Given the description of an element on the screen output the (x, y) to click on. 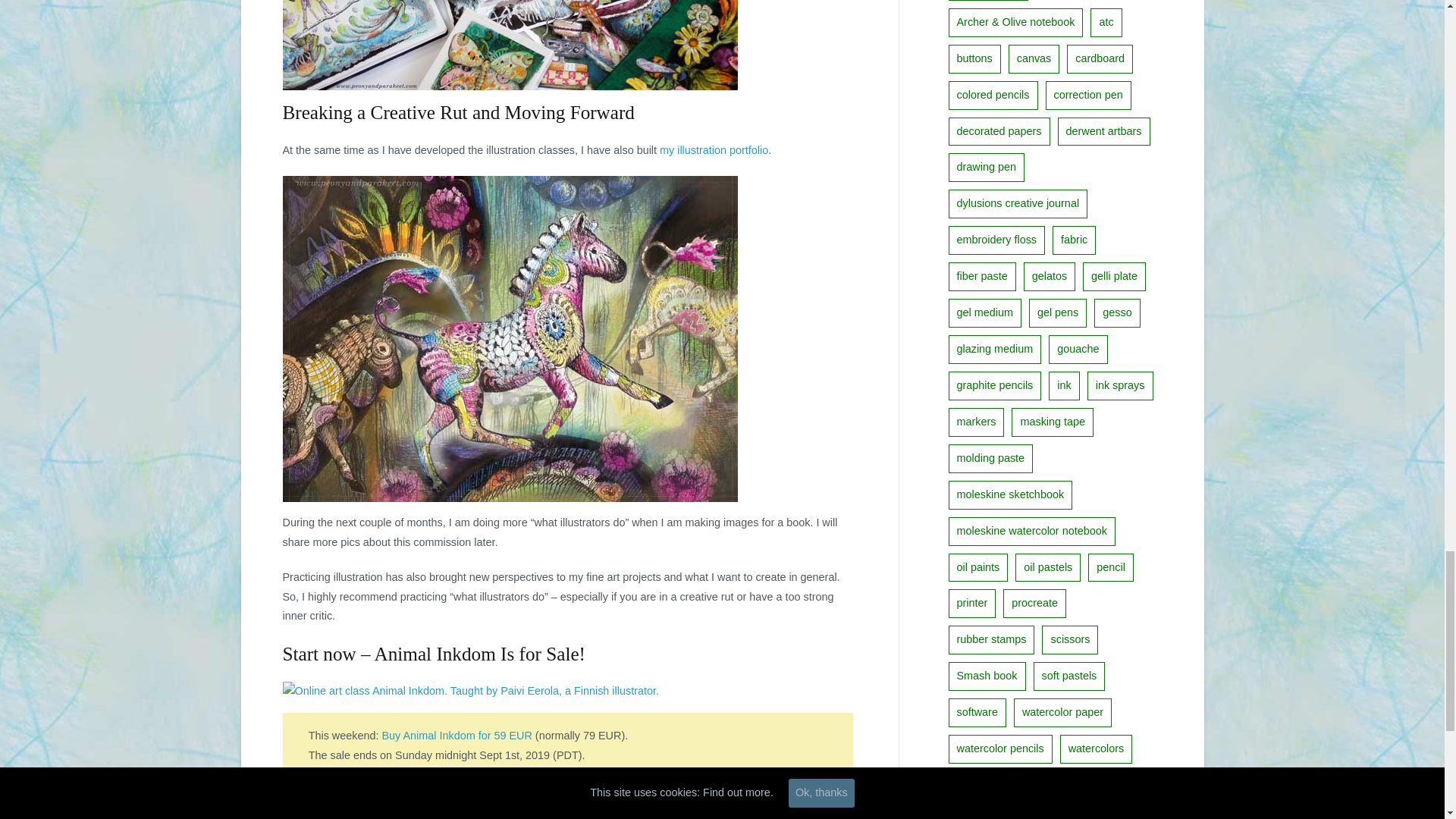
Buy here! (347, 774)
my illustration portfolio (713, 150)
Buy Animal Inkdom for 59 EUR (456, 735)
